Given the description of an element on the screen output the (x, y) to click on. 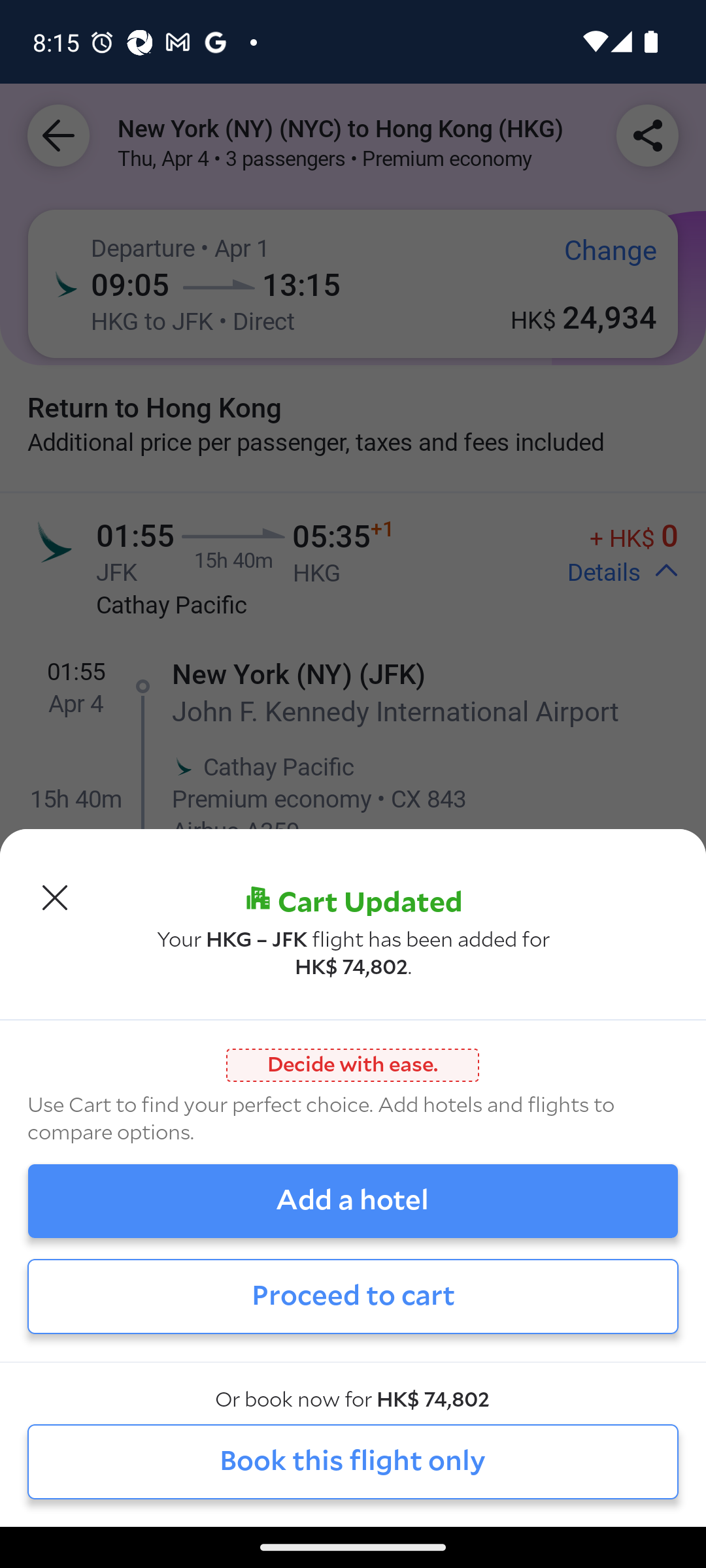
Add a hotel  Add a hotel (352, 1200)
Proceed to cart  Proceed to cart (352, 1296)
Book this flight only  Book this flight only (352, 1461)
